Given the description of an element on the screen output the (x, y) to click on. 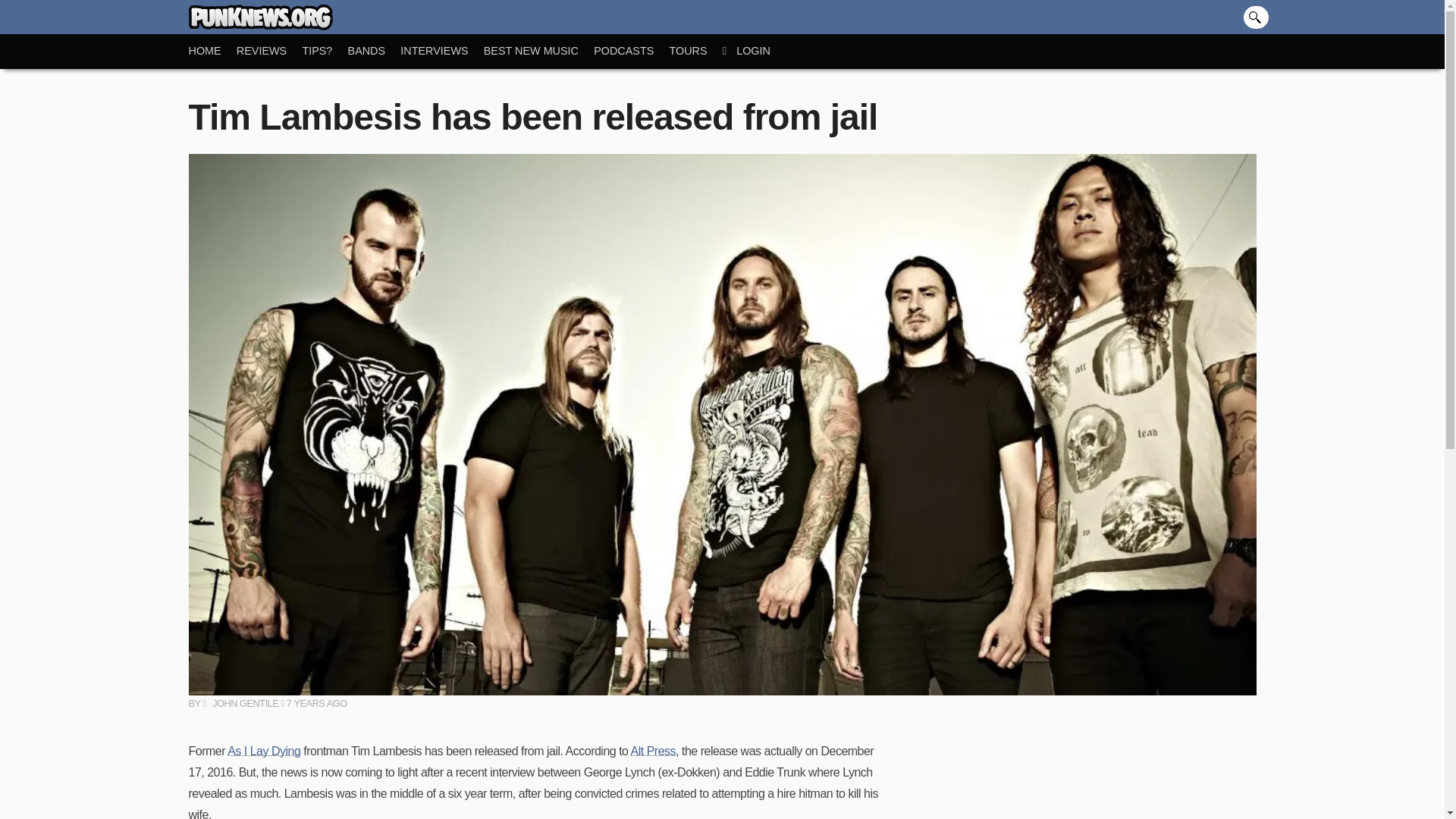
Tours (695, 50)
REVIEWS (268, 50)
BEST NEW MUSIC (538, 50)
TOURS (695, 50)
Browse through thousands of band profiles (374, 50)
Alt Press (653, 750)
Check out some new music reviews (268, 50)
Tim Lambesis has been released from jail (532, 117)
As I Lay Dying (263, 750)
HOME (211, 50)
Submit a story or tip (324, 50)
INTERVIEWS (441, 50)
LOGIN (754, 50)
Podcasts (631, 50)
TIPS? (324, 50)
